Given the description of an element on the screen output the (x, y) to click on. 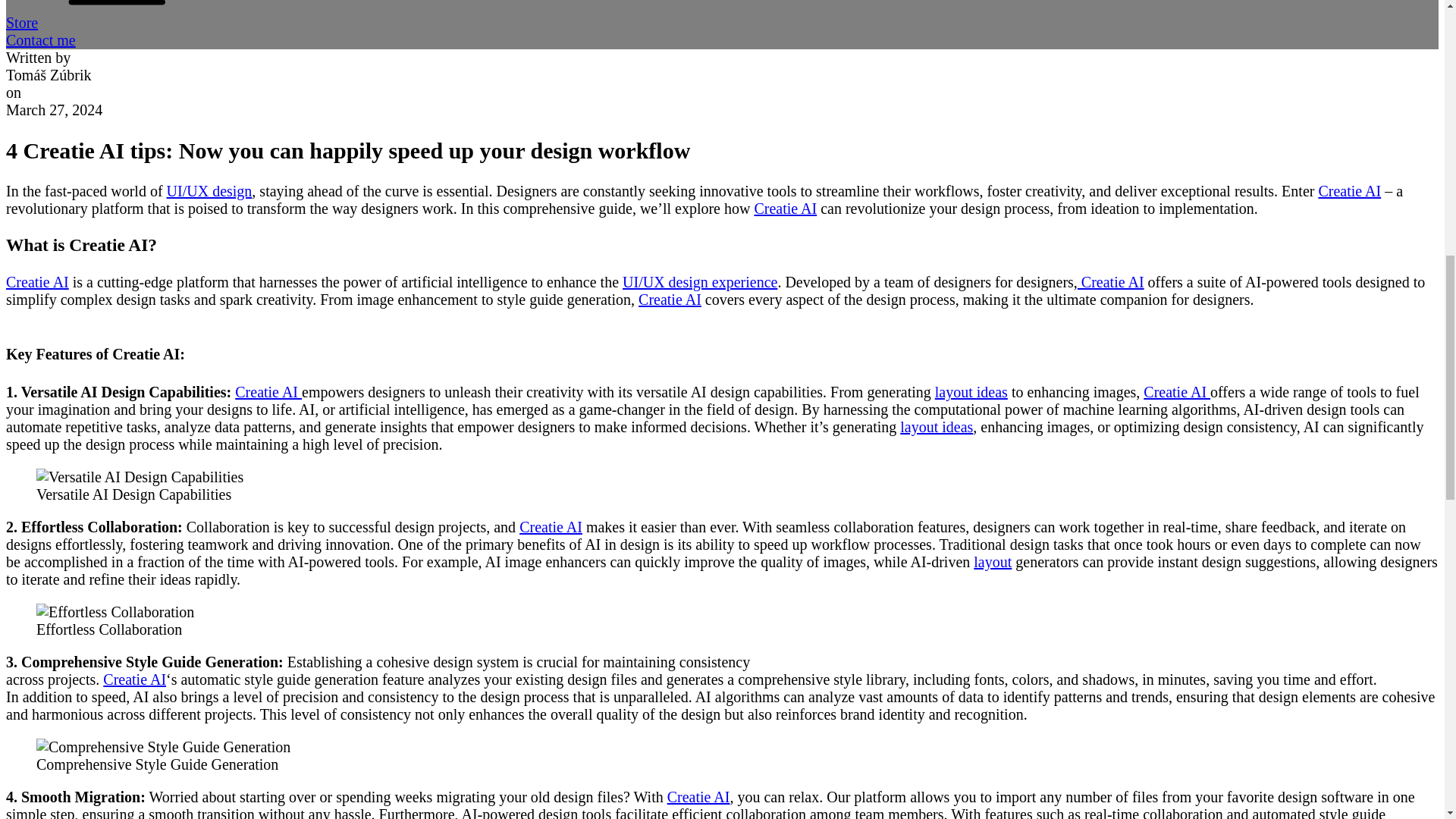
Creatie AI (1175, 392)
layout (992, 561)
Creatie AI (698, 796)
Creatie AI (134, 678)
Creatie AI (1110, 281)
Creatie AI (550, 526)
Creatie AI (267, 392)
Creatie AI (670, 299)
